Given the description of an element on the screen output the (x, y) to click on. 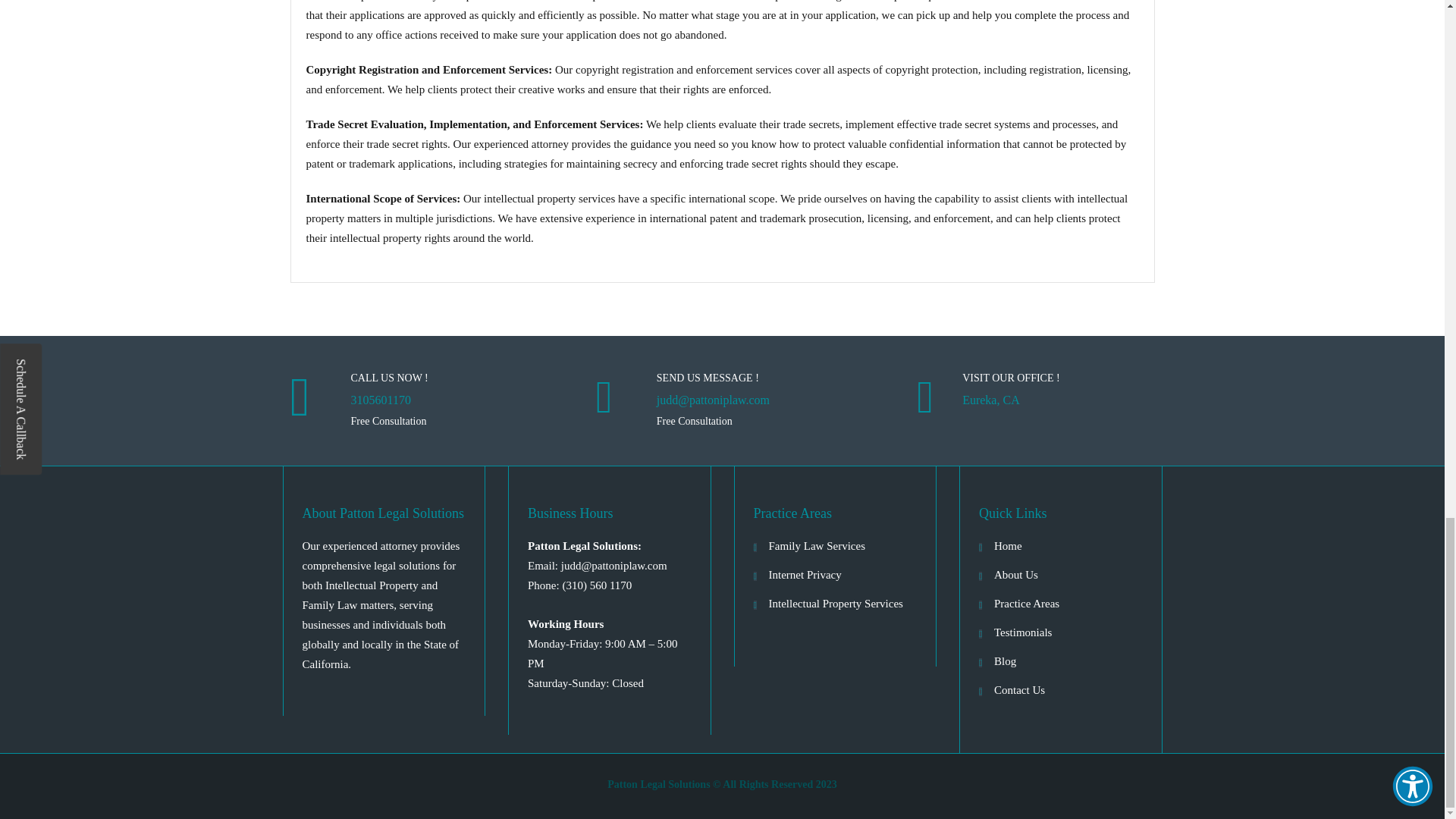
Family Law Services (816, 545)
Practice Areas (1026, 603)
Testimonials (1022, 632)
Intellectual Property Services (835, 603)
Home (1008, 545)
Contact Us (1019, 689)
About Us (1016, 574)
3105601170 (445, 408)
Internet Privacy (804, 574)
Blog (1005, 661)
